Given the description of an element on the screen output the (x, y) to click on. 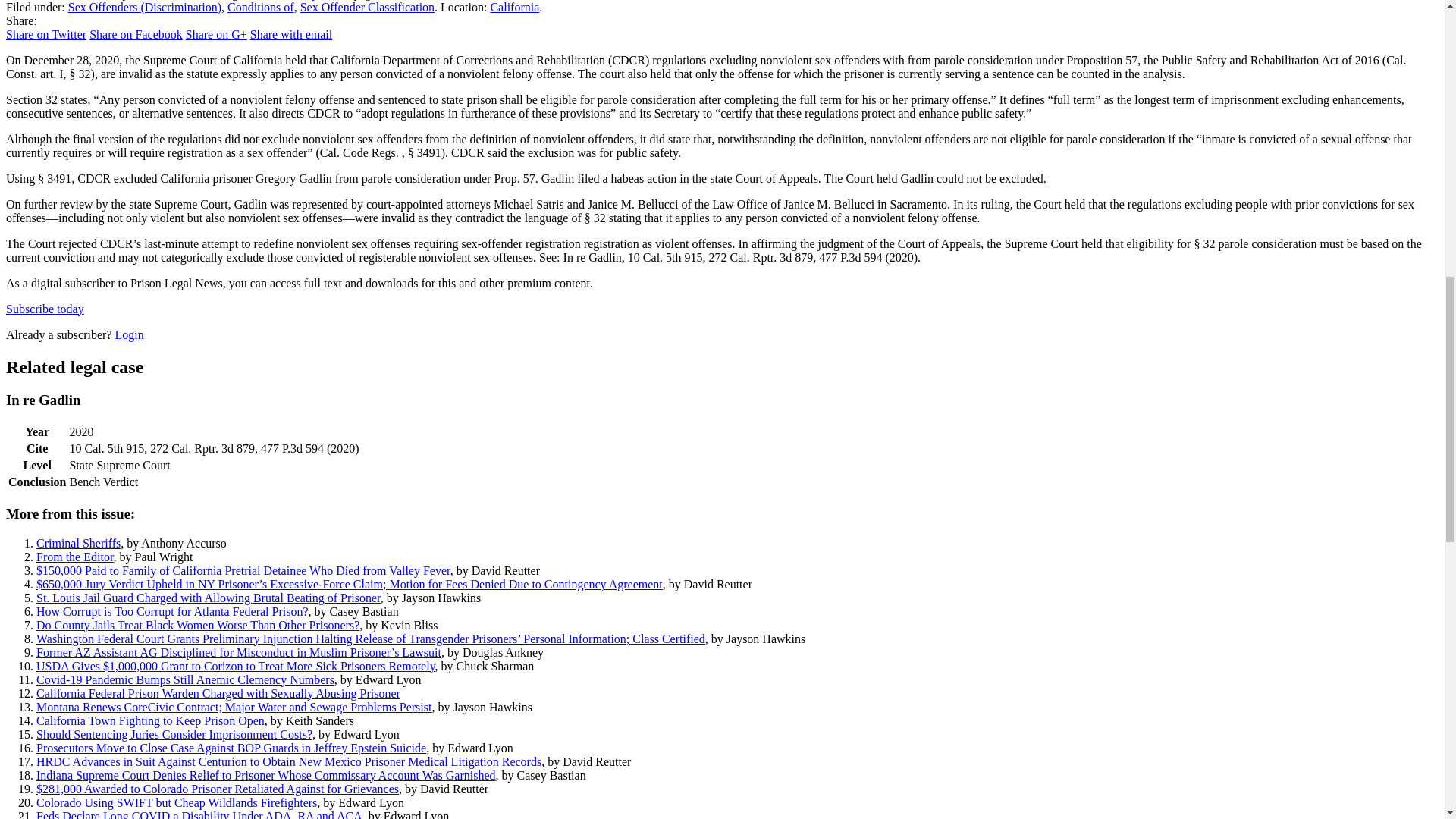
Share on Facebook (135, 33)
Share on Twitter (45, 33)
Share with email (290, 33)
